Given the description of an element on the screen output the (x, y) to click on. 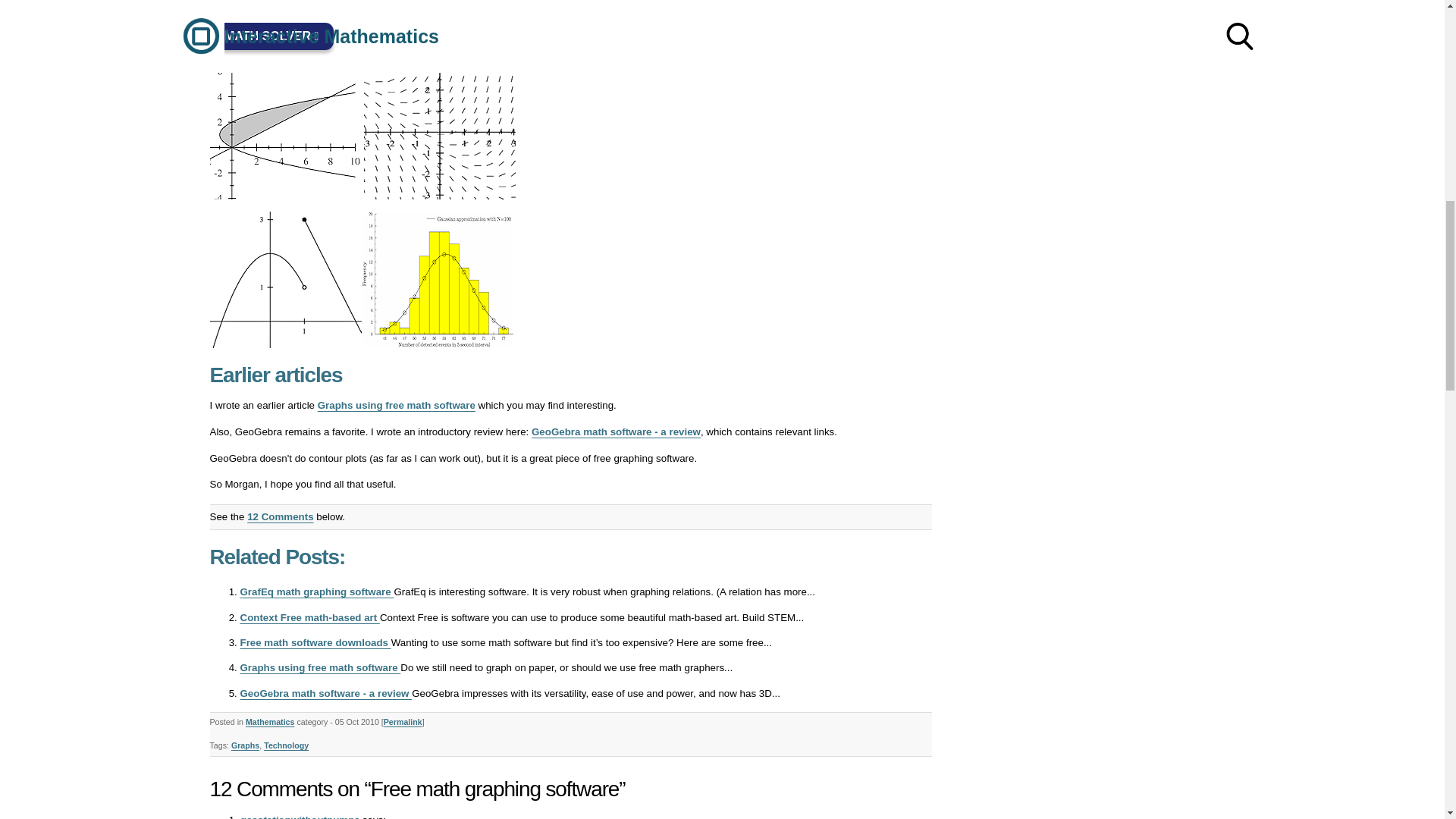
GrafEq math graphing software (316, 591)
Mathematics (270, 721)
Graphs using free math software (320, 667)
GrafEq math graphing software (316, 591)
Free math software downloads (315, 642)
Context Free math-based art (309, 617)
Technology (285, 745)
Permalink (403, 721)
Graphs using free math software (396, 405)
Context Free math-based art (309, 617)
